Given the description of an element on the screen output the (x, y) to click on. 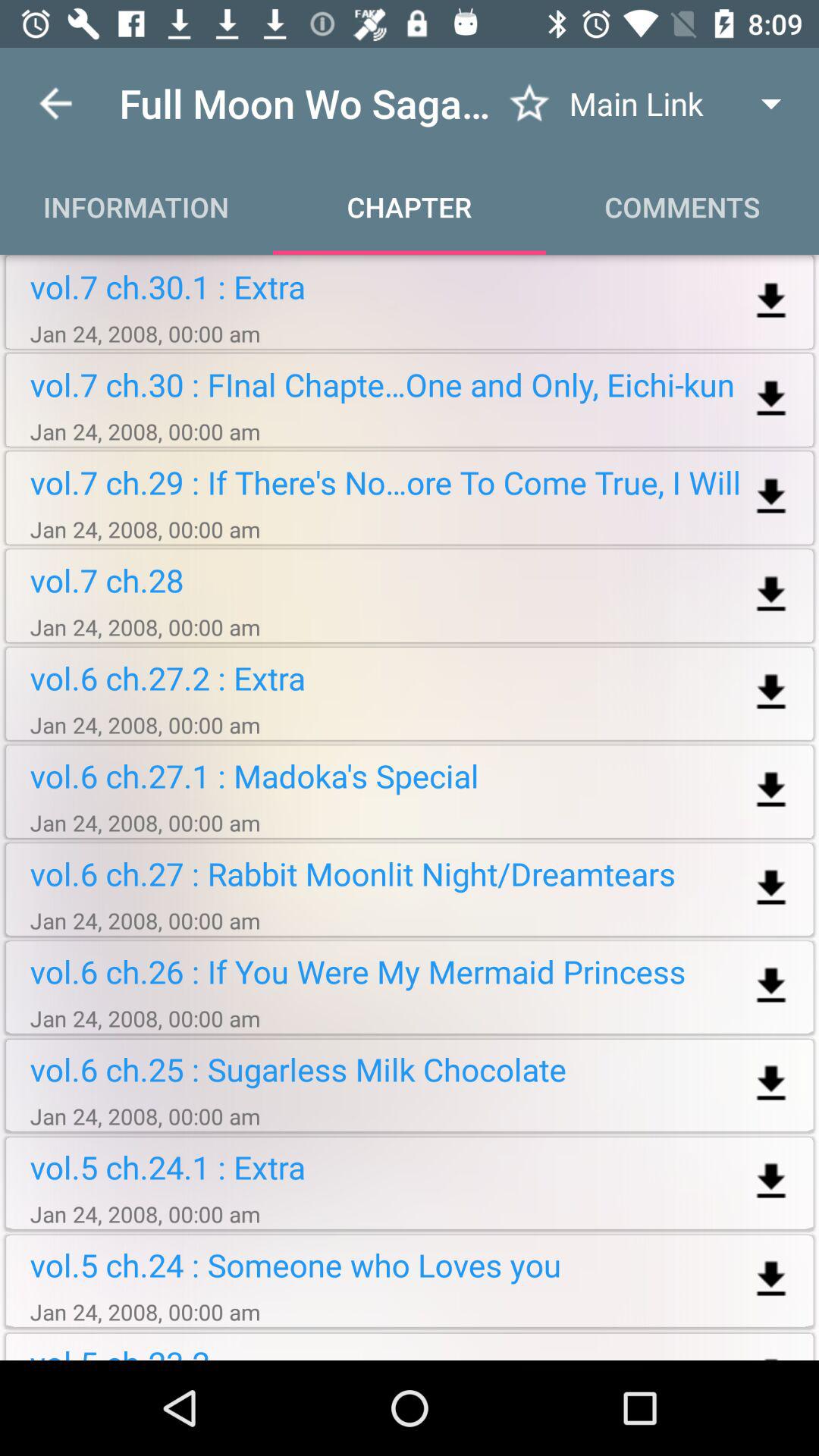
download file (771, 1083)
